Given the description of an element on the screen output the (x, y) to click on. 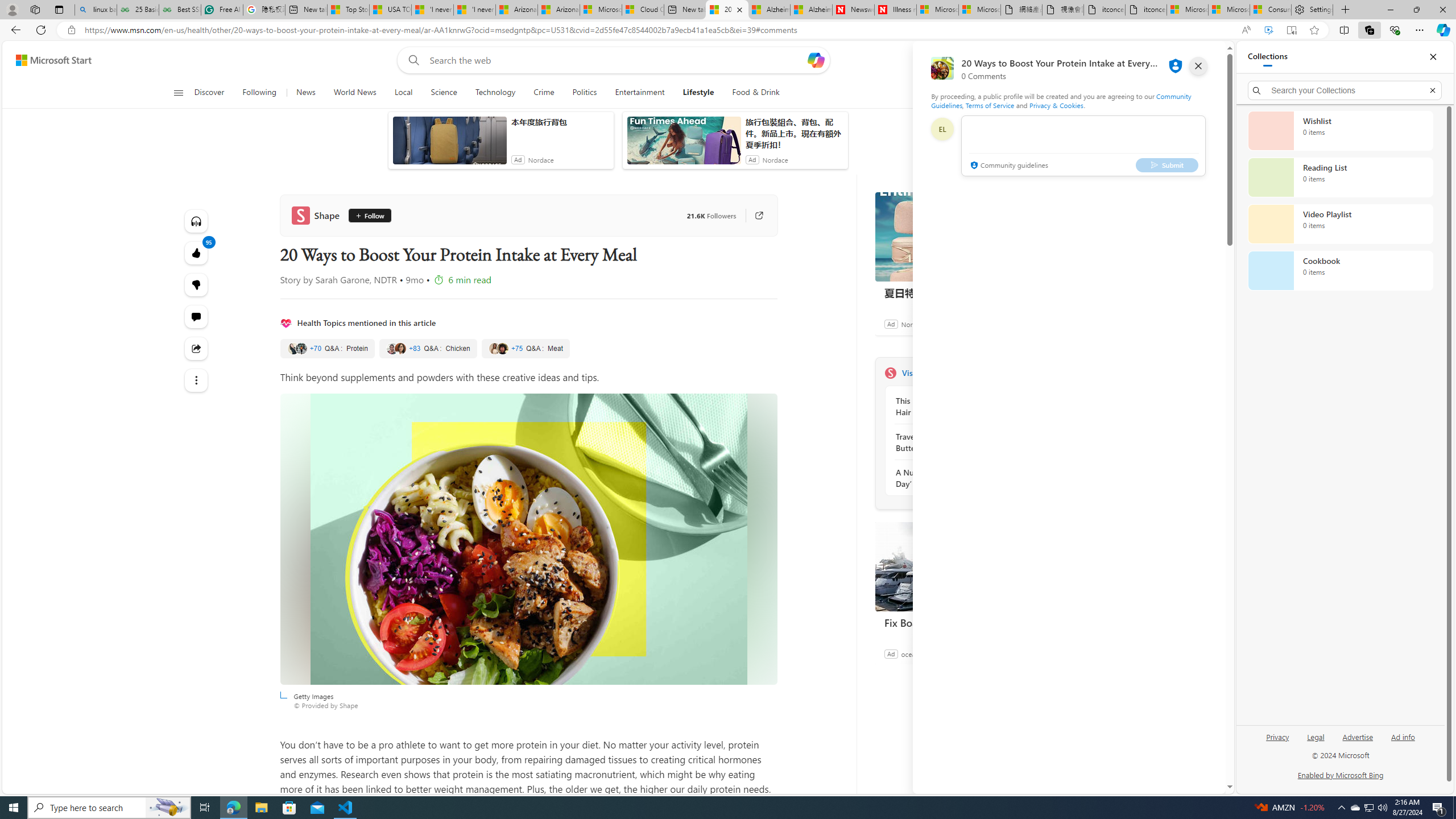
Best SSL Certificates Provider in India - GeeksforGeeks (179, 9)
Cloud Computing Services | Microsoft Azure (642, 9)
Chicken (427, 348)
95 (196, 284)
USA TODAY - MSN (390, 9)
Top Stories - MSN (347, 9)
